Given the description of an element on the screen output the (x, y) to click on. 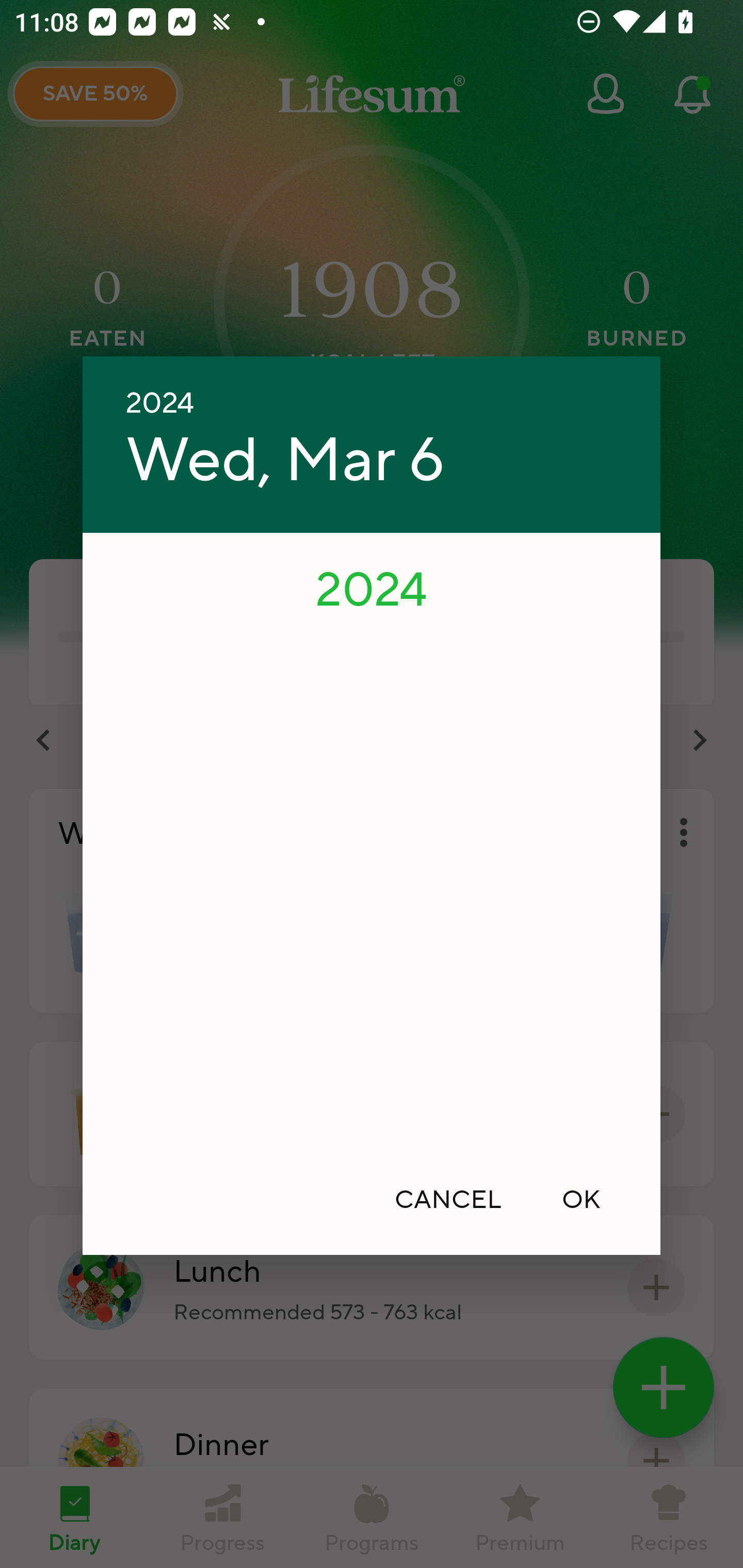
2024 (159, 403)
Wed, Mar 6 (285, 460)
2024 (371, 587)
CANCEL (447, 1199)
OK (580, 1199)
